Given the description of an element on the screen output the (x, y) to click on. 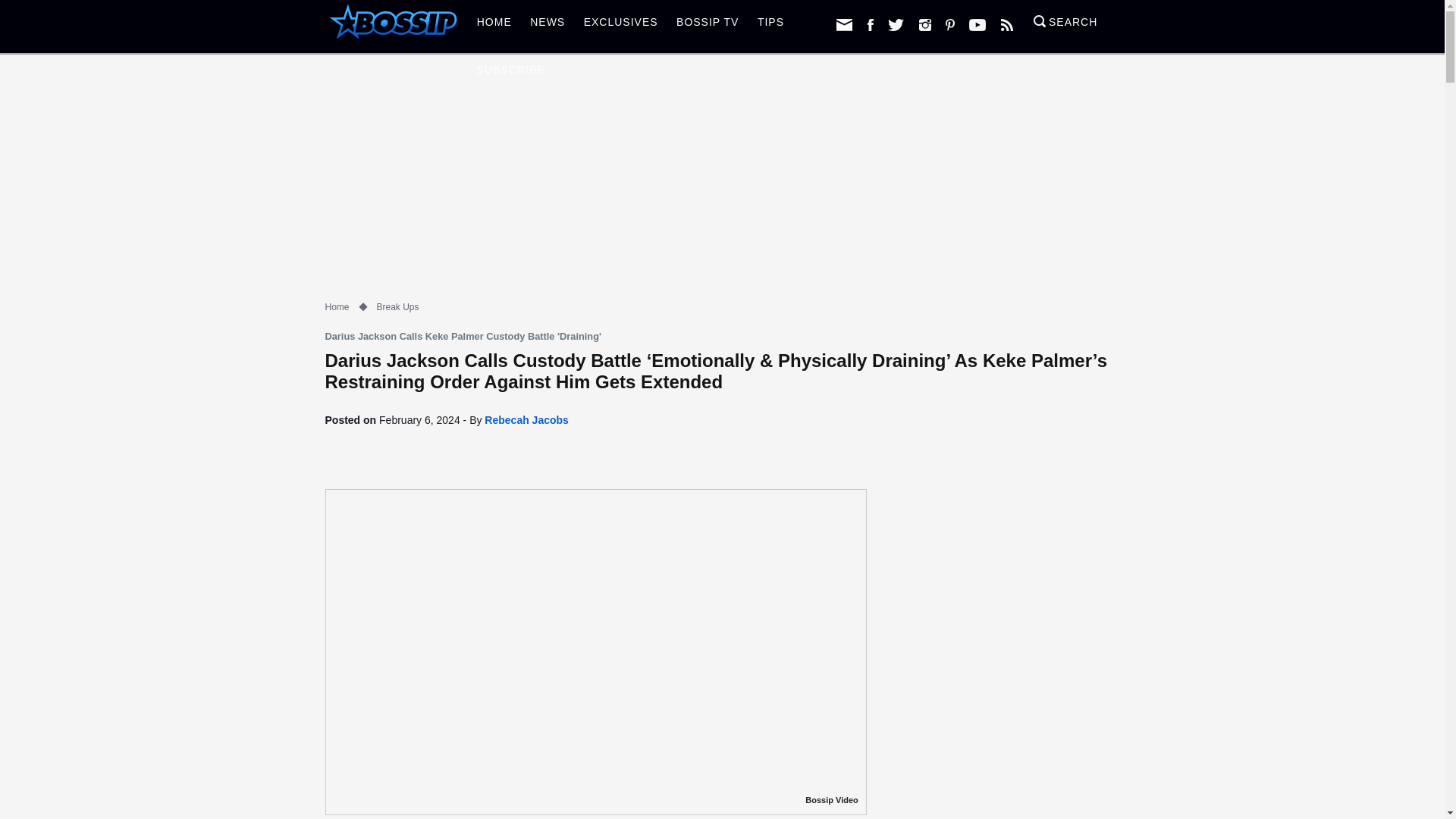
Break Ups (398, 307)
Follow Bossip on Instagram (924, 24)
HOME (493, 26)
Follow Bossip on Twitter (896, 24)
TIPS (770, 26)
Subscribe to Bossip on YouTube (977, 24)
SEARCH (1065, 26)
Posts by Rebecah Jacobs (526, 419)
newsletter (843, 24)
EXCLUSIVES (620, 26)
